Given the description of an element on the screen output the (x, y) to click on. 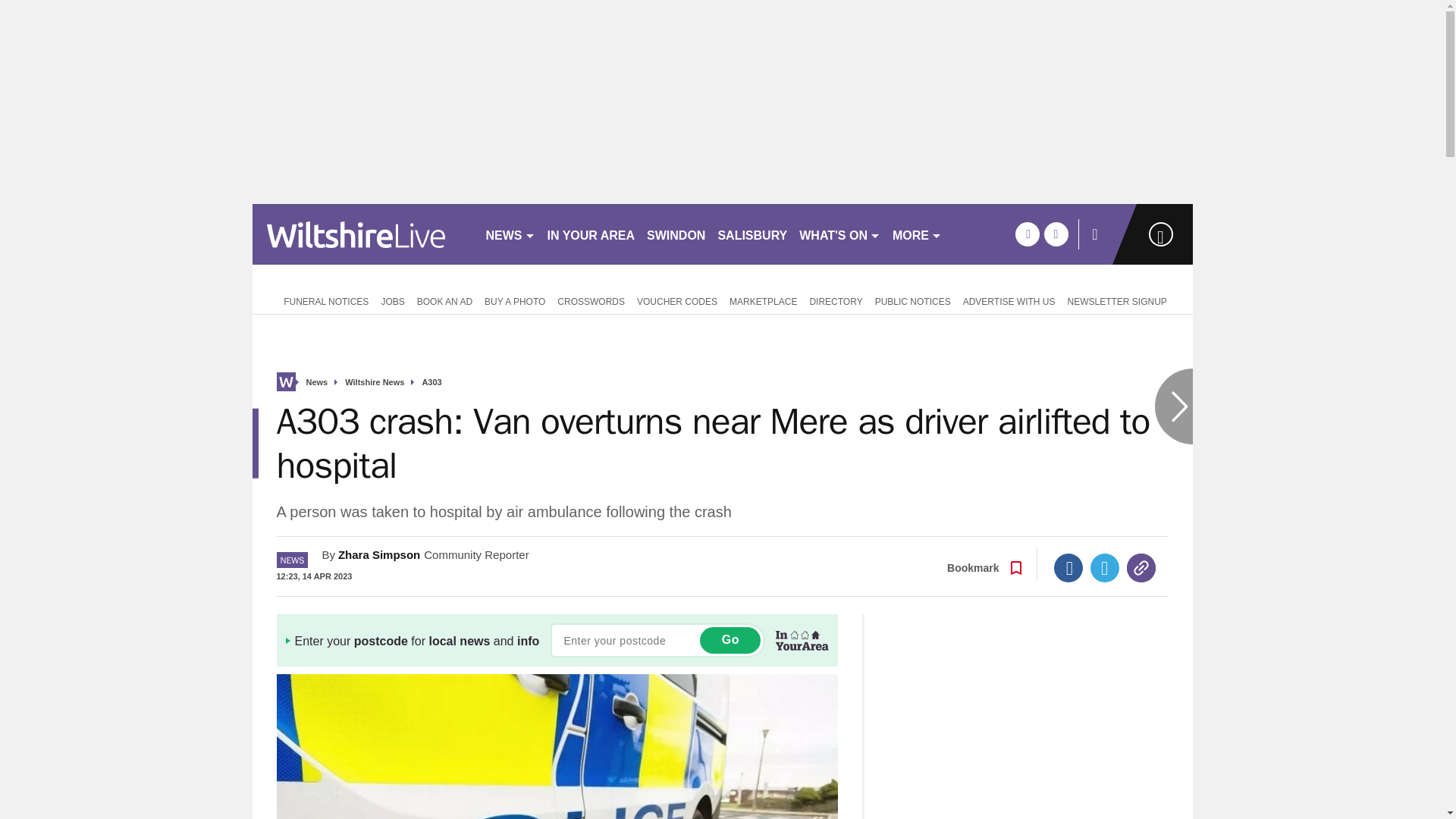
PUBLIC NOTICES (912, 300)
Facebook (1068, 567)
VOUCHER CODES (676, 300)
CROSSWORDS (590, 300)
Go (730, 640)
IN YOUR AREA (591, 233)
BUY A PHOTO (515, 300)
facebook (1026, 233)
MORE (916, 233)
WHAT'S ON (839, 233)
